Given the description of an element on the screen output the (x, y) to click on. 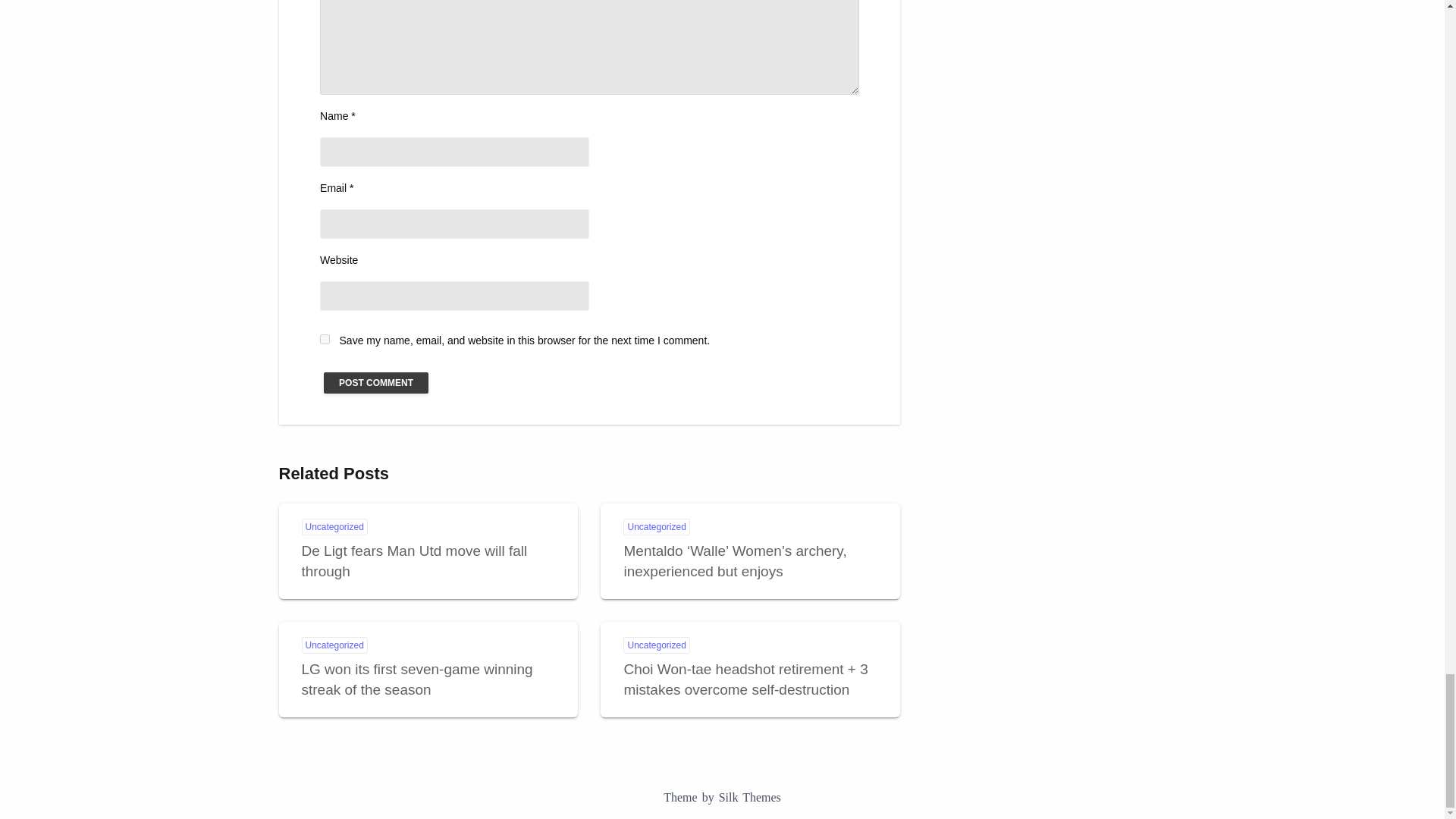
yes (325, 338)
Post Comment (375, 382)
